Given the description of an element on the screen output the (x, y) to click on. 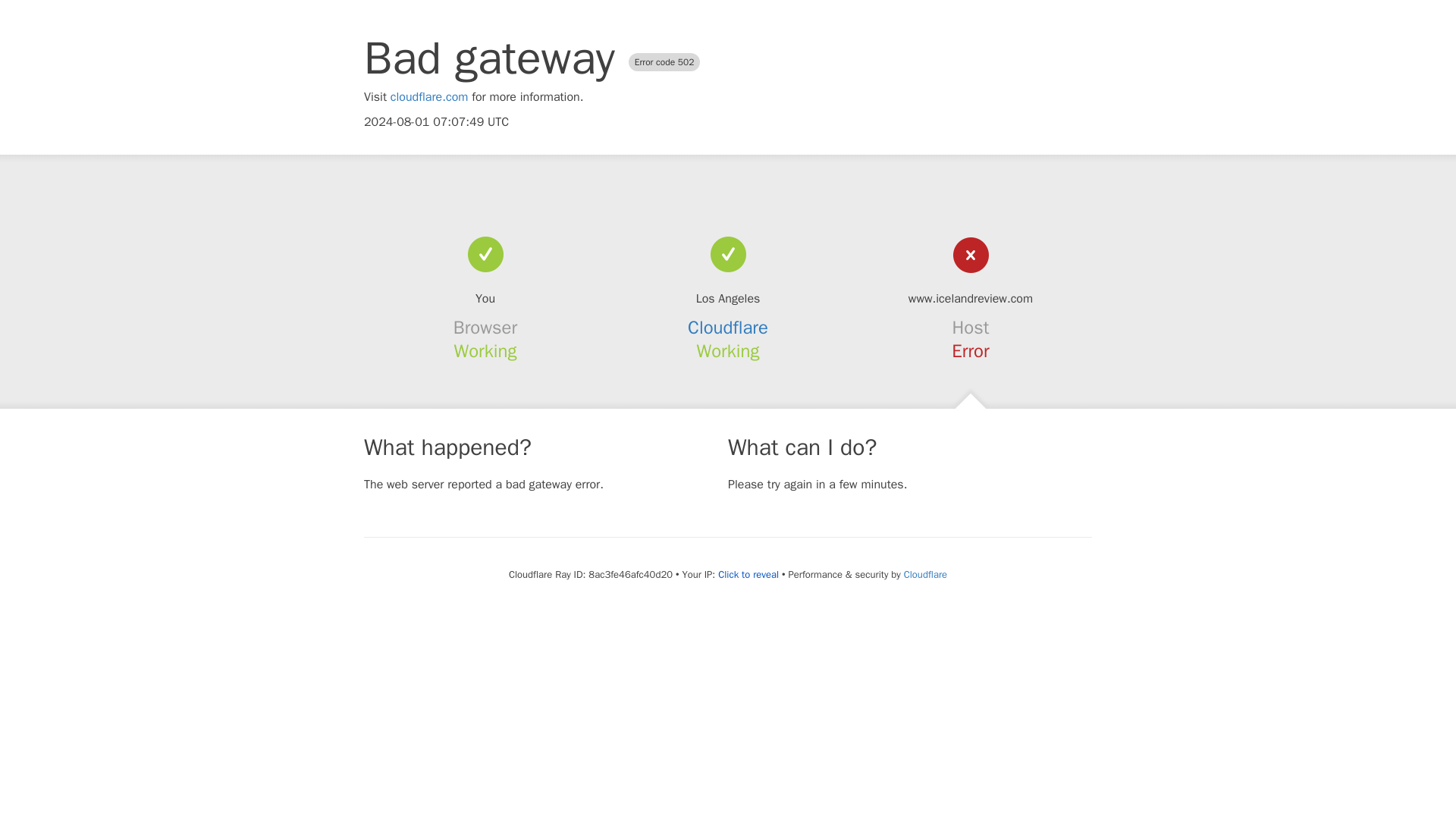
cloudflare.com (429, 96)
Cloudflare (925, 574)
Cloudflare (727, 327)
Click to reveal (747, 574)
